Given the description of an element on the screen output the (x, y) to click on. 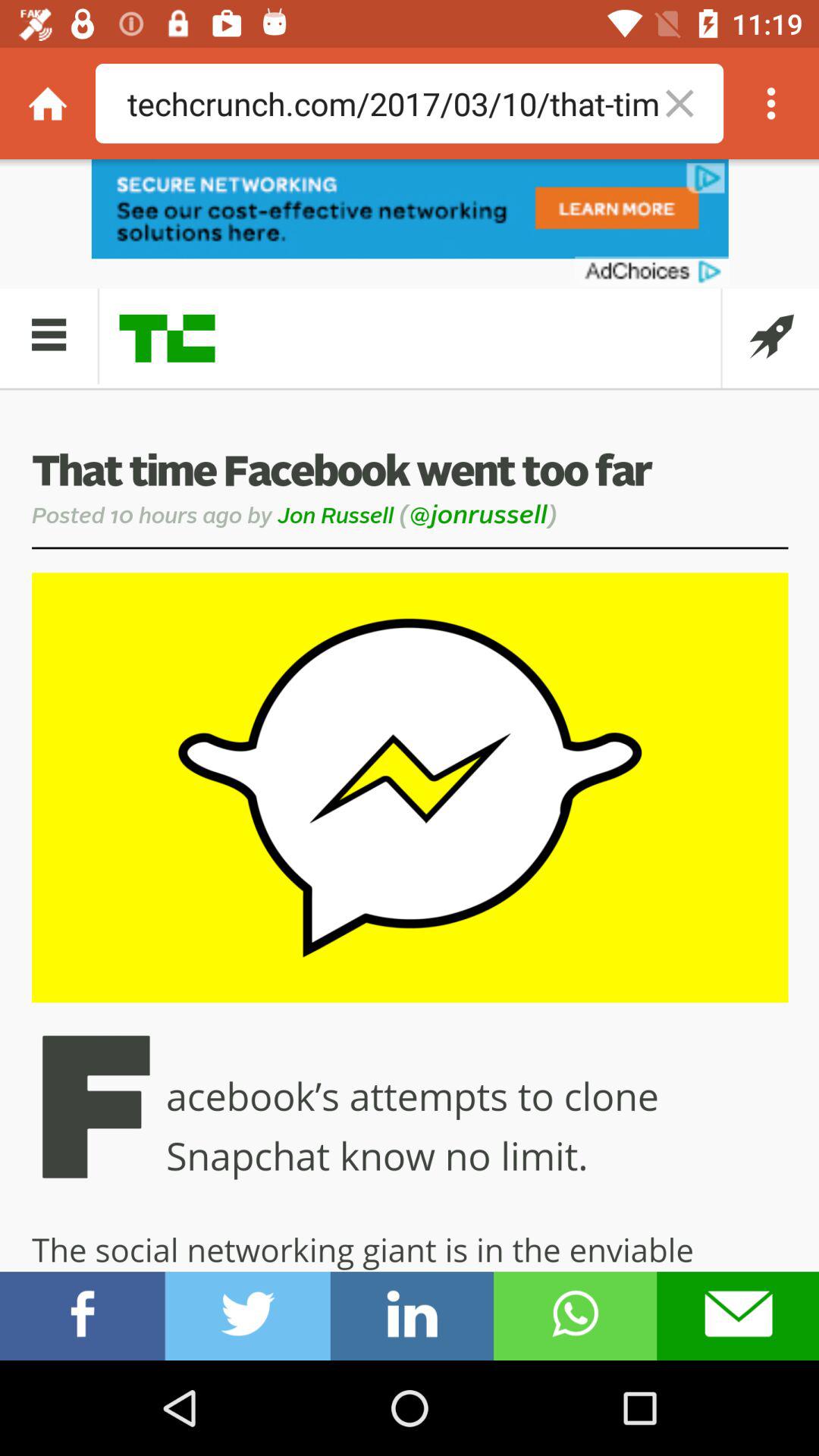
deleting in searching file (771, 103)
